Given the description of an element on the screen output the (x, y) to click on. 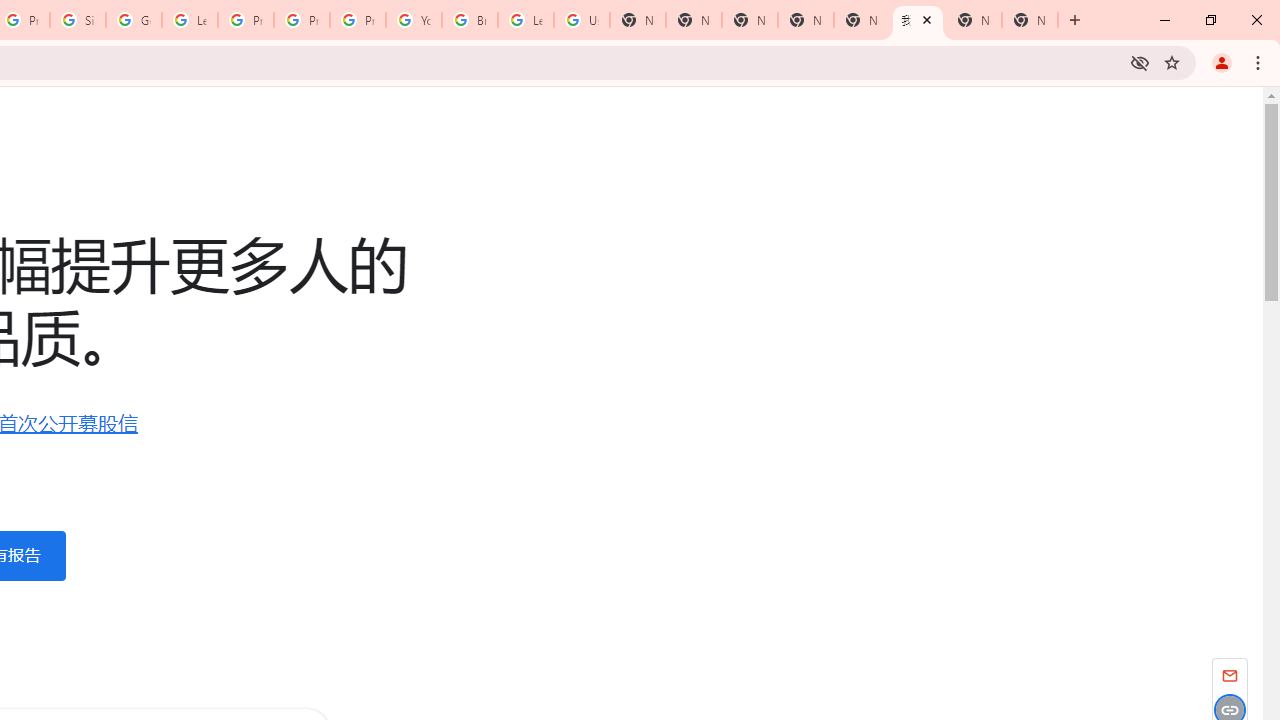
Privacy Help Center - Policies Help (301, 20)
Sign in - Google Accounts (77, 20)
Browse Chrome as a guest - Computer - Google Chrome Help (469, 20)
